Given the description of an element on the screen output the (x, y) to click on. 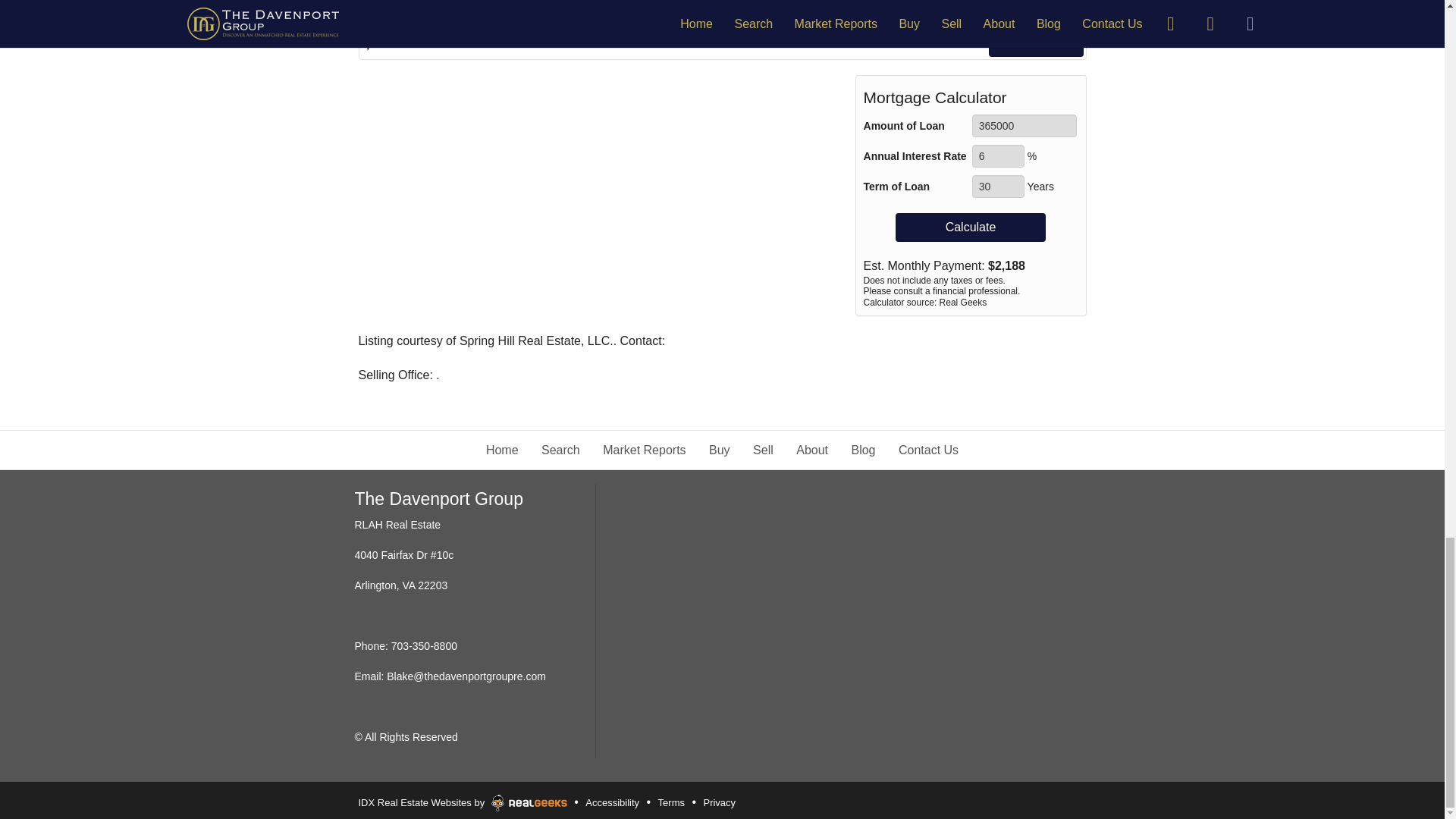
365000 (1024, 125)
6 (998, 155)
30 (998, 186)
